Given the description of an element on the screen output the (x, y) to click on. 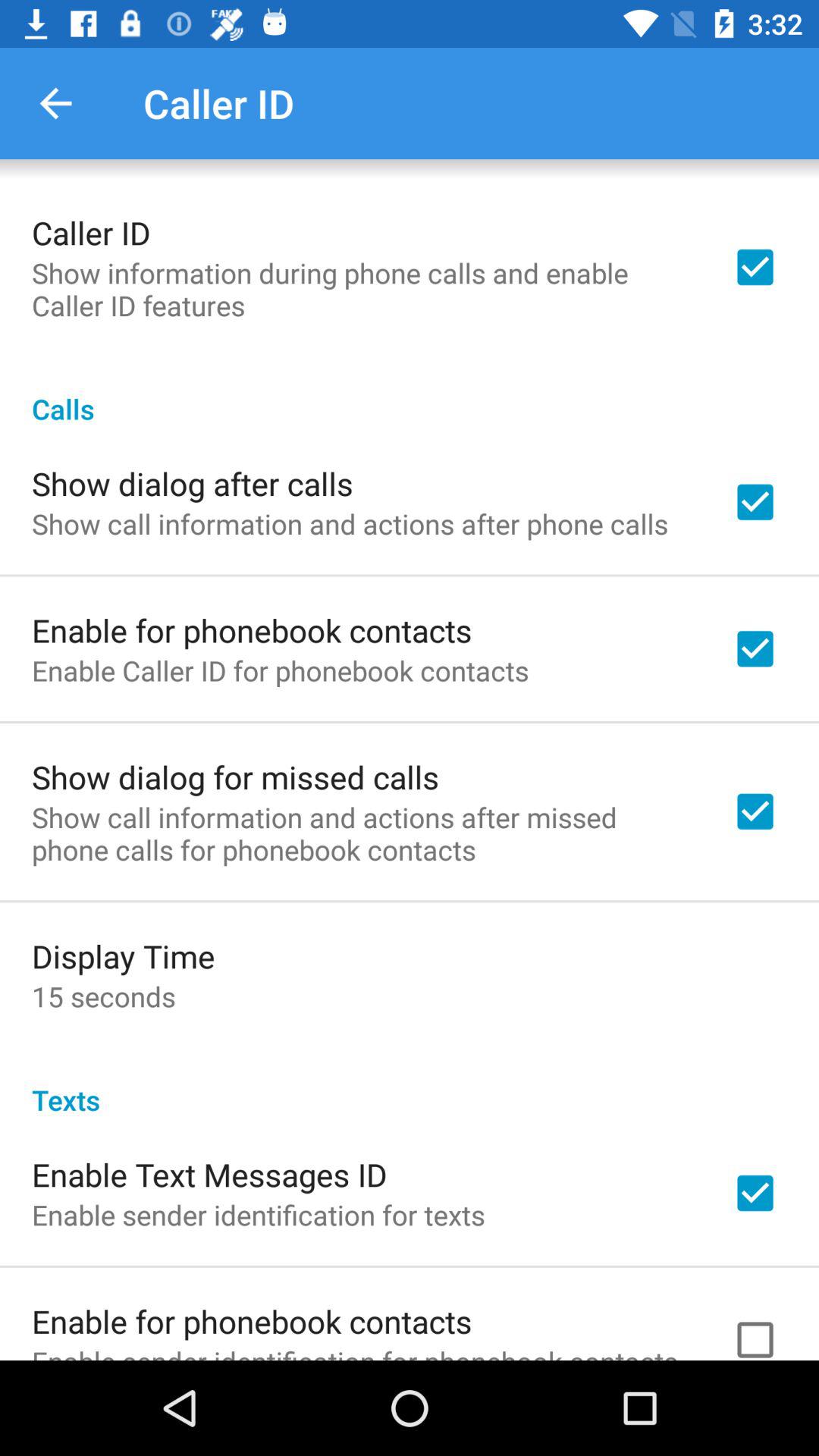
launch item below the texts item (209, 1174)
